Given the description of an element on the screen output the (x, y) to click on. 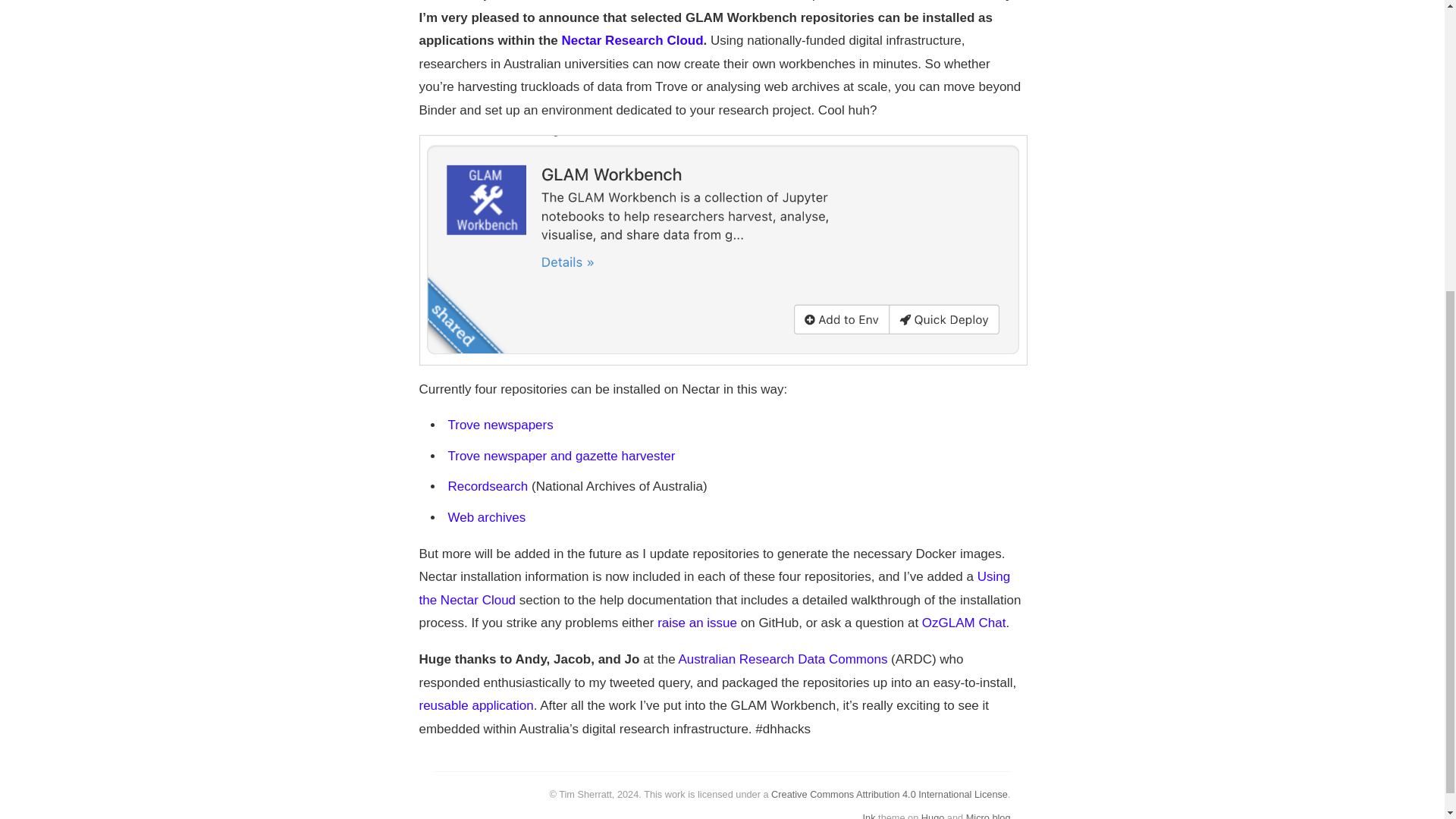
Nectar Research Cloud (631, 40)
OzGLAM Chat (963, 622)
Creative Commons Attribution 4.0 International License (889, 794)
reusable application (475, 705)
Using the Nectar Cloud (714, 588)
raise an issue (697, 622)
Trove newspaper and gazette harvester (560, 455)
Trove newspapers (499, 424)
Web archives (485, 517)
Australian Research Data Commons (782, 658)
